Given the description of an element on the screen output the (x, y) to click on. 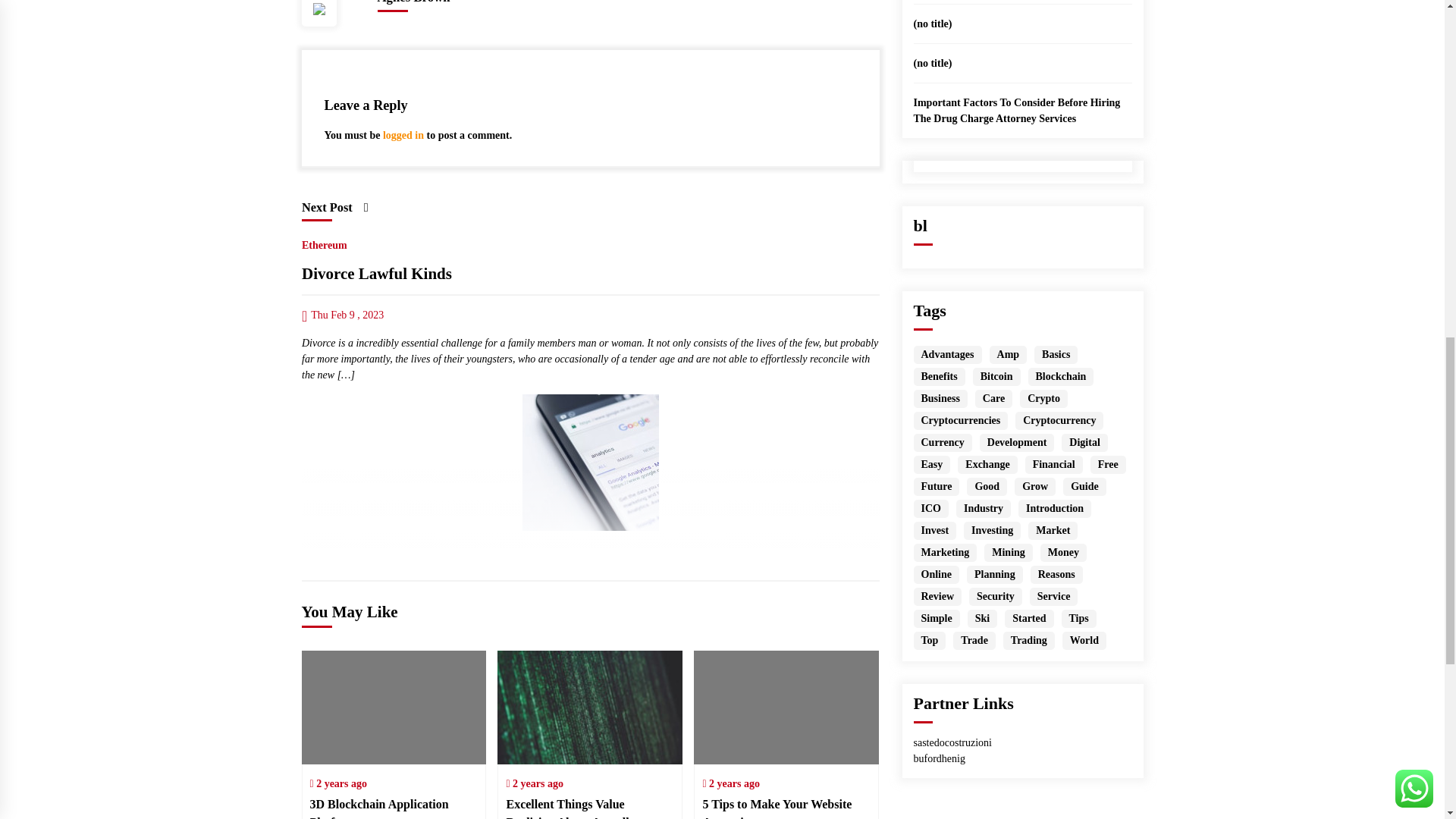
Divorce Lawful Kinds (589, 461)
